Given the description of an element on the screen output the (x, y) to click on. 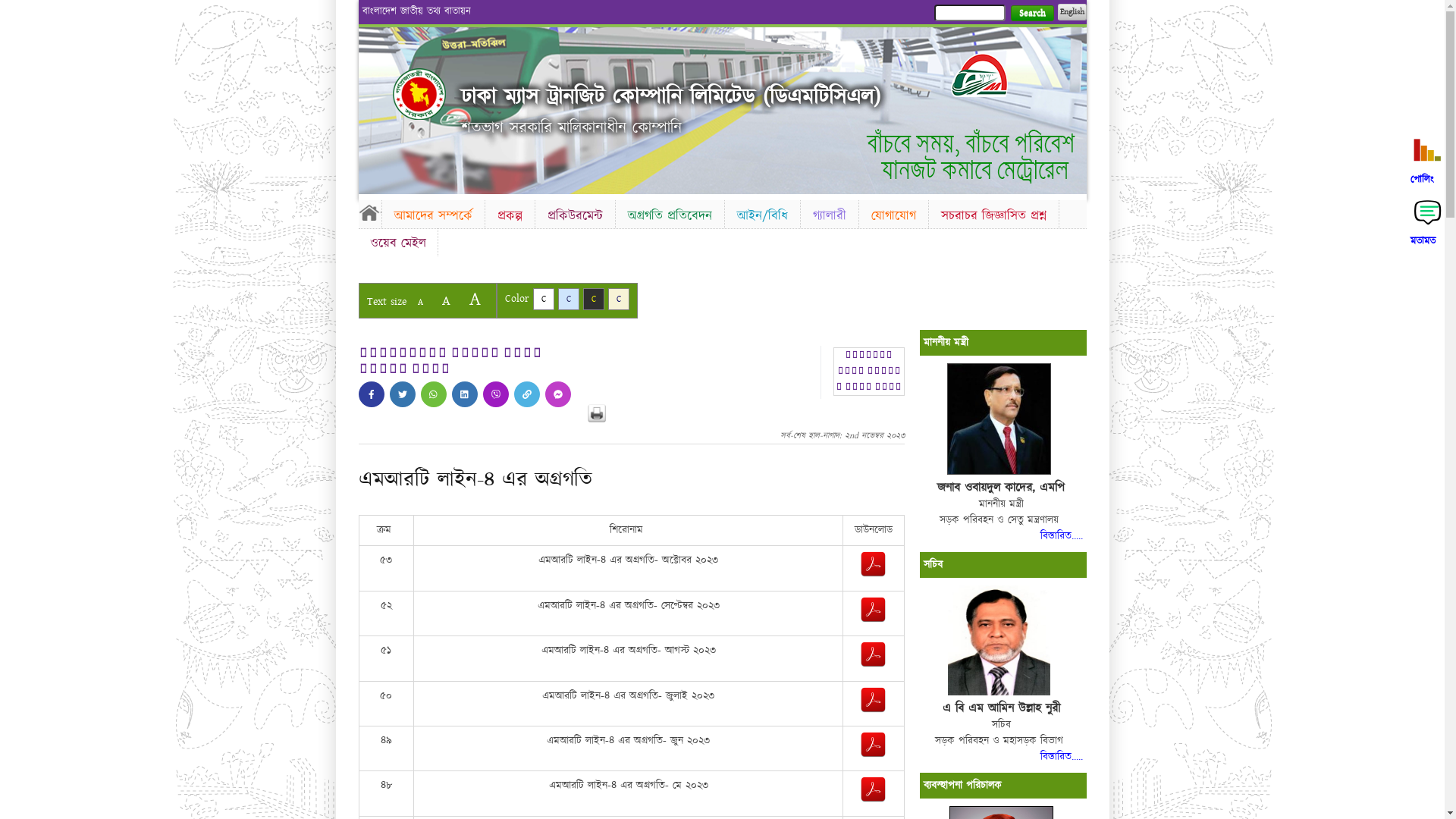
C Element type: text (568, 299)
English Element type: text (1071, 11)
C Element type: text (542, 299)
Home Element type: hover (418, 93)
A Element type: text (419, 301)
C Element type: text (592, 299)
A Element type: text (474, 298)
Home Element type: hover (368, 211)
A Element type: text (445, 300)
Search Element type: text (1031, 13)
C Element type: text (618, 299)
